Given the description of an element on the screen output the (x, y) to click on. 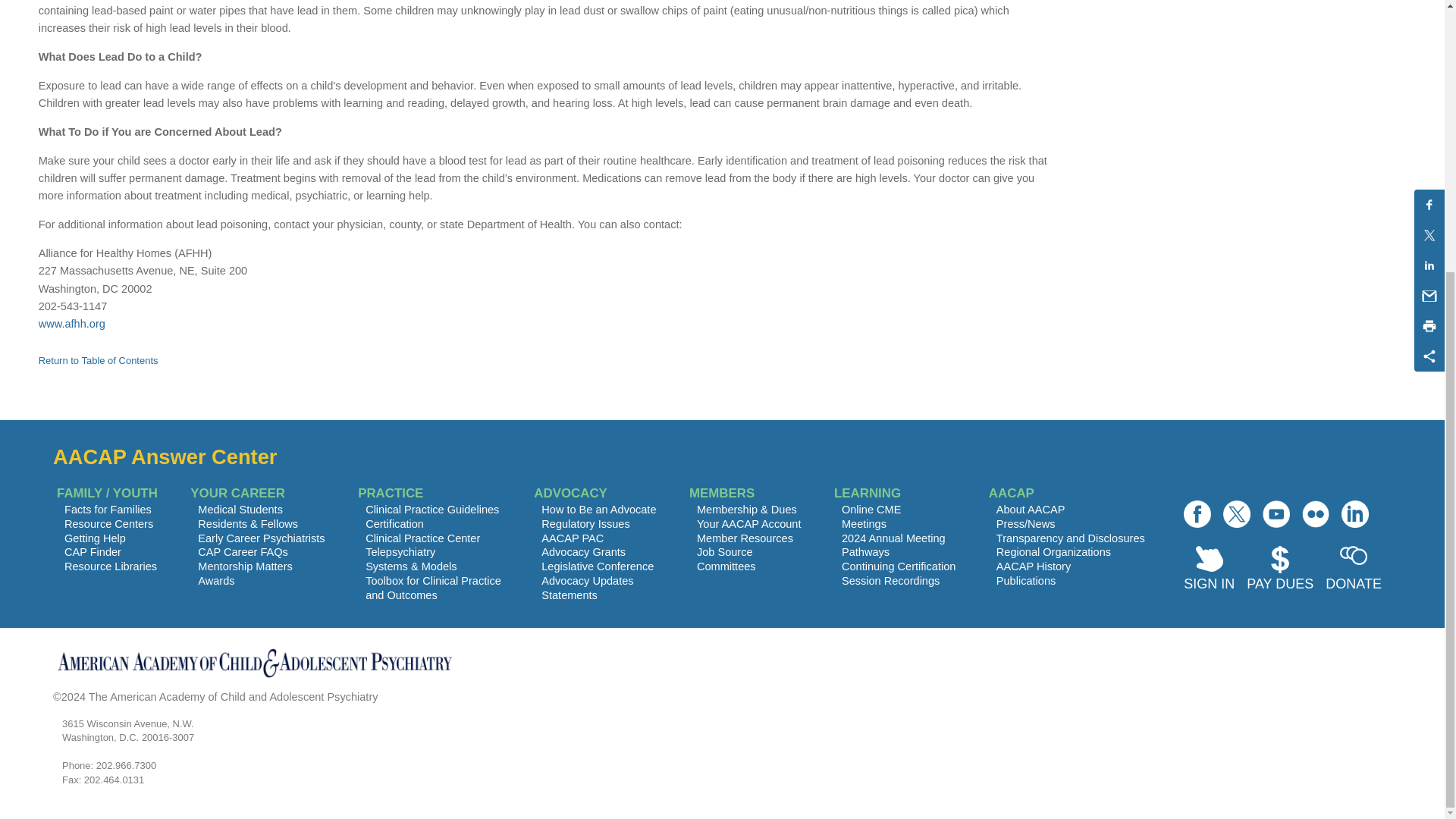
Follow us on Facebook! (1197, 513)
Pay Dues (1279, 570)
Follow Us on LinkedIn (1354, 513)
Donate (1352, 570)
Flickr (1315, 513)
Sign In (1208, 570)
CME (583, 551)
Follow us on Twitter! (1236, 513)
Subscribe to us on YouTube! (1276, 513)
